Given the description of an element on the screen output the (x, y) to click on. 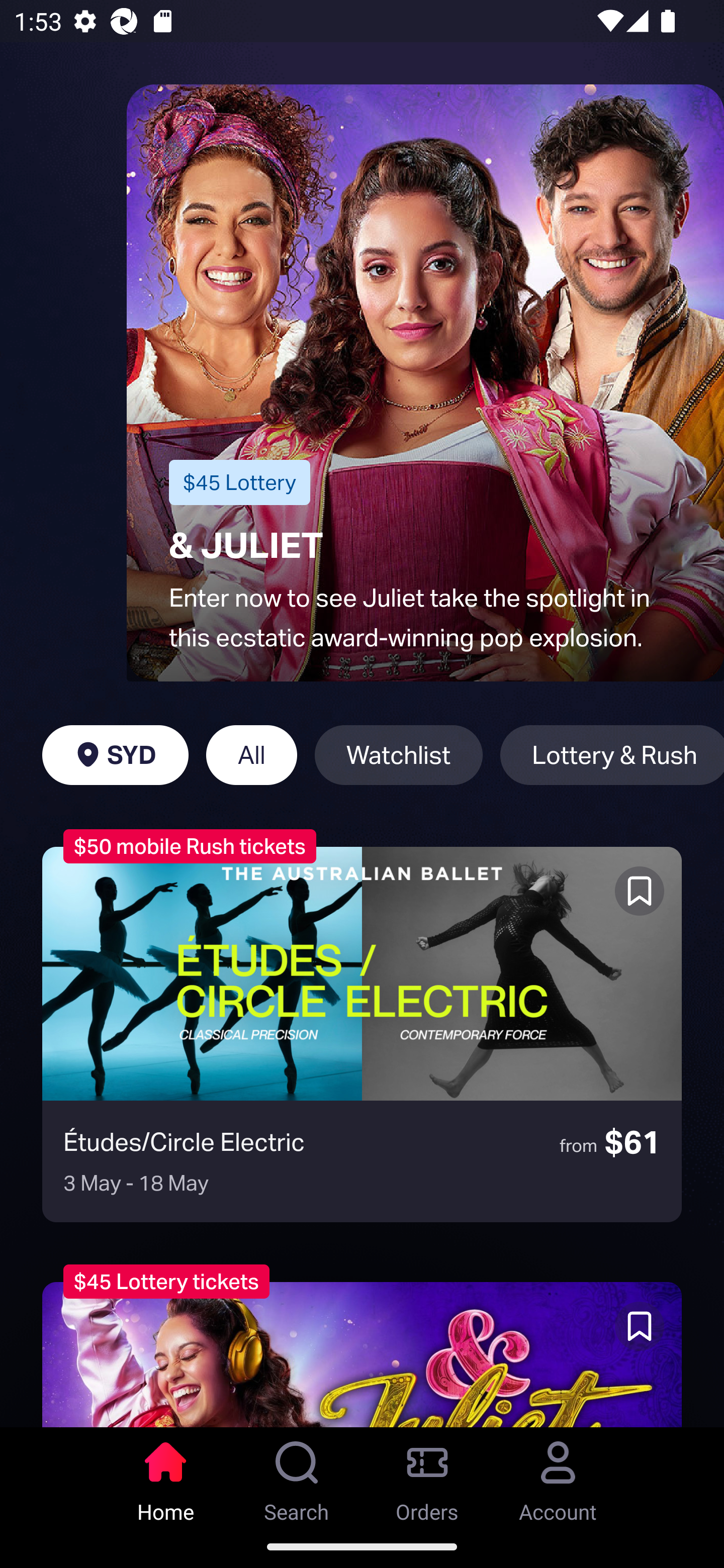
SYD (114, 754)
All (251, 754)
Watchlist (398, 754)
Lottery & Rush (612, 754)
Études/Circle Electric from $61 3 May - 18 May (361, 1033)
Search (296, 1475)
Orders (427, 1475)
Account (558, 1475)
